Given the description of an element on the screen output the (x, y) to click on. 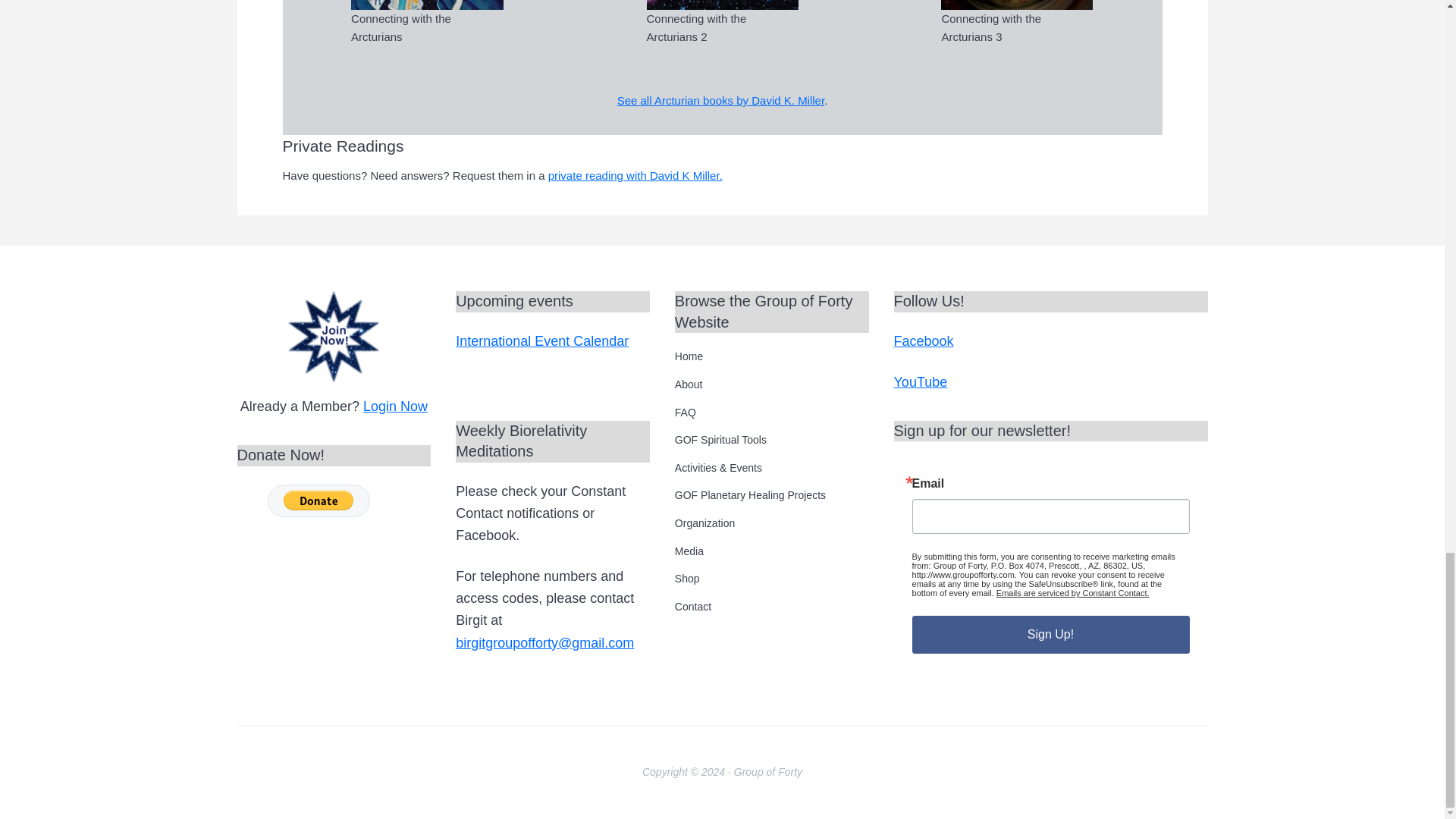
See all Arcturian books by David K. Miller (720, 100)
Organization (772, 522)
GOF Spiritual Tools (772, 439)
Home (772, 356)
GOF Planetary Healing Projects (772, 494)
About (772, 384)
International Event Calendar (541, 340)
FAQ (772, 412)
Login Now (395, 406)
private reading with David K Miller. (635, 174)
